Given the description of an element on the screen output the (x, y) to click on. 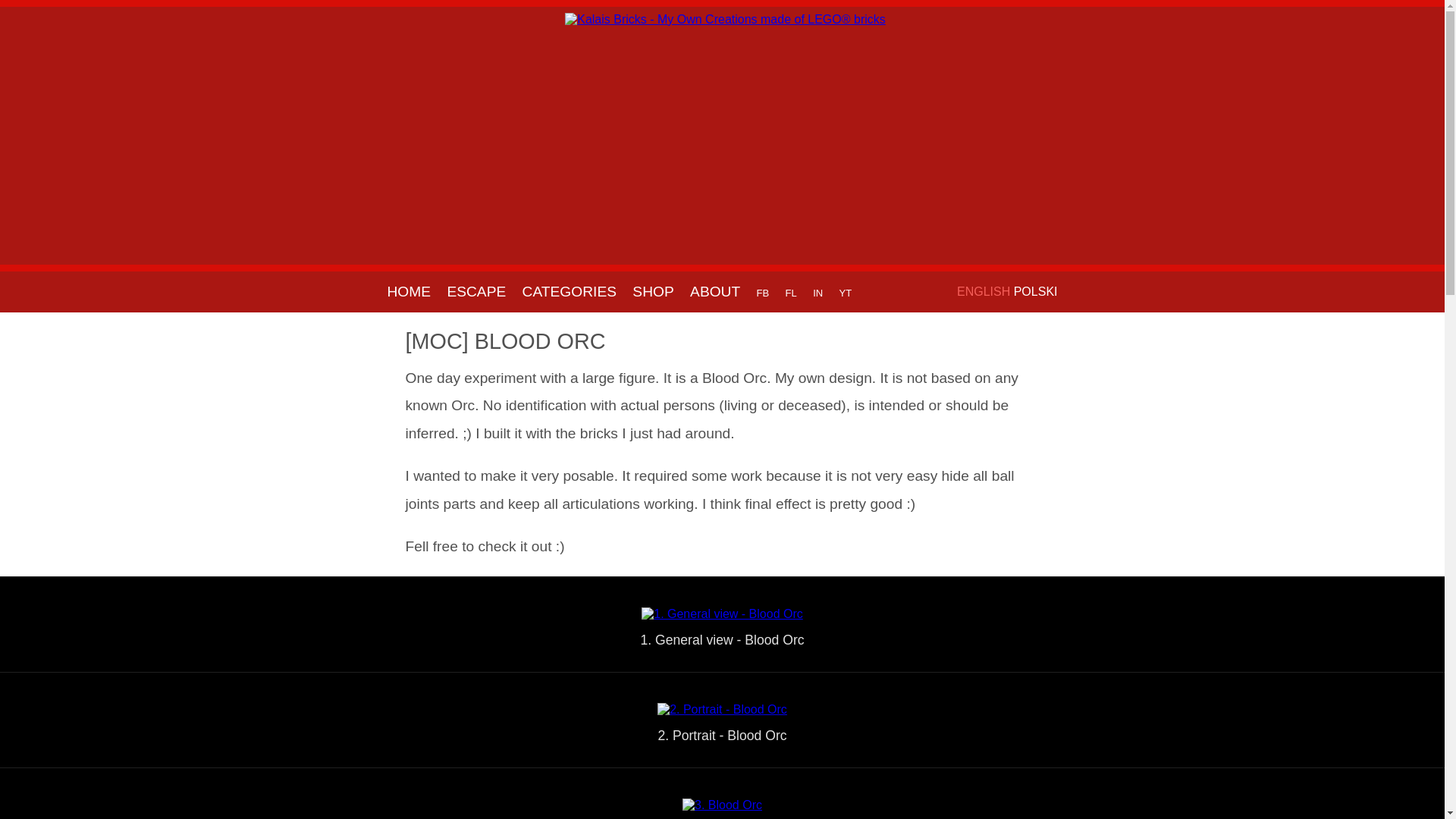
LEGO shop (652, 291)
FL (790, 291)
FB (763, 291)
YT (845, 291)
3. Blood Orc (721, 804)
HOME (408, 291)
2. Portrait - Blood Orc (722, 708)
Escape - EP2 - LEGO Star Wars (476, 291)
1. General view - Blood Orc (722, 613)
Categories (569, 291)
POLSKI (1038, 291)
ABOUT (714, 291)
About author (714, 291)
IN (817, 291)
ESCAPE (476, 291)
